Given the description of an element on the screen output the (x, y) to click on. 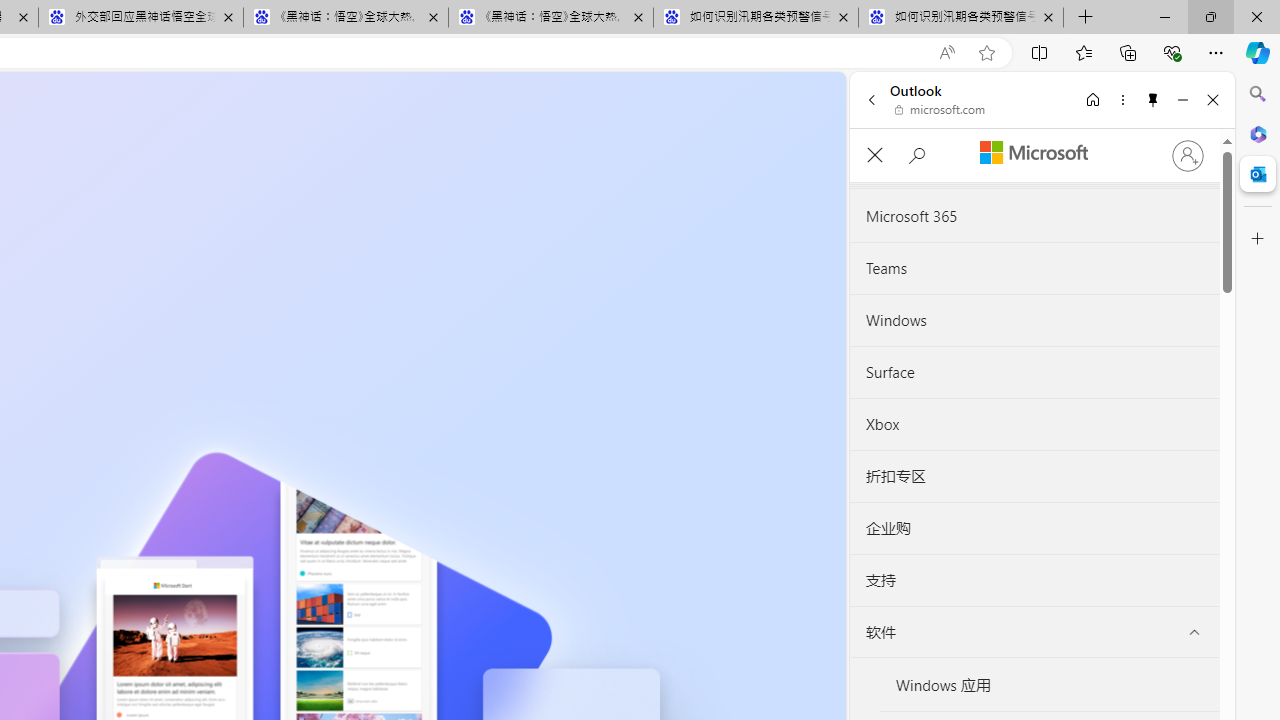
Windows (1034, 319)
Surface (1034, 372)
microsoft.com (940, 110)
Teams (1034, 269)
